Given the description of an element on the screen output the (x, y) to click on. 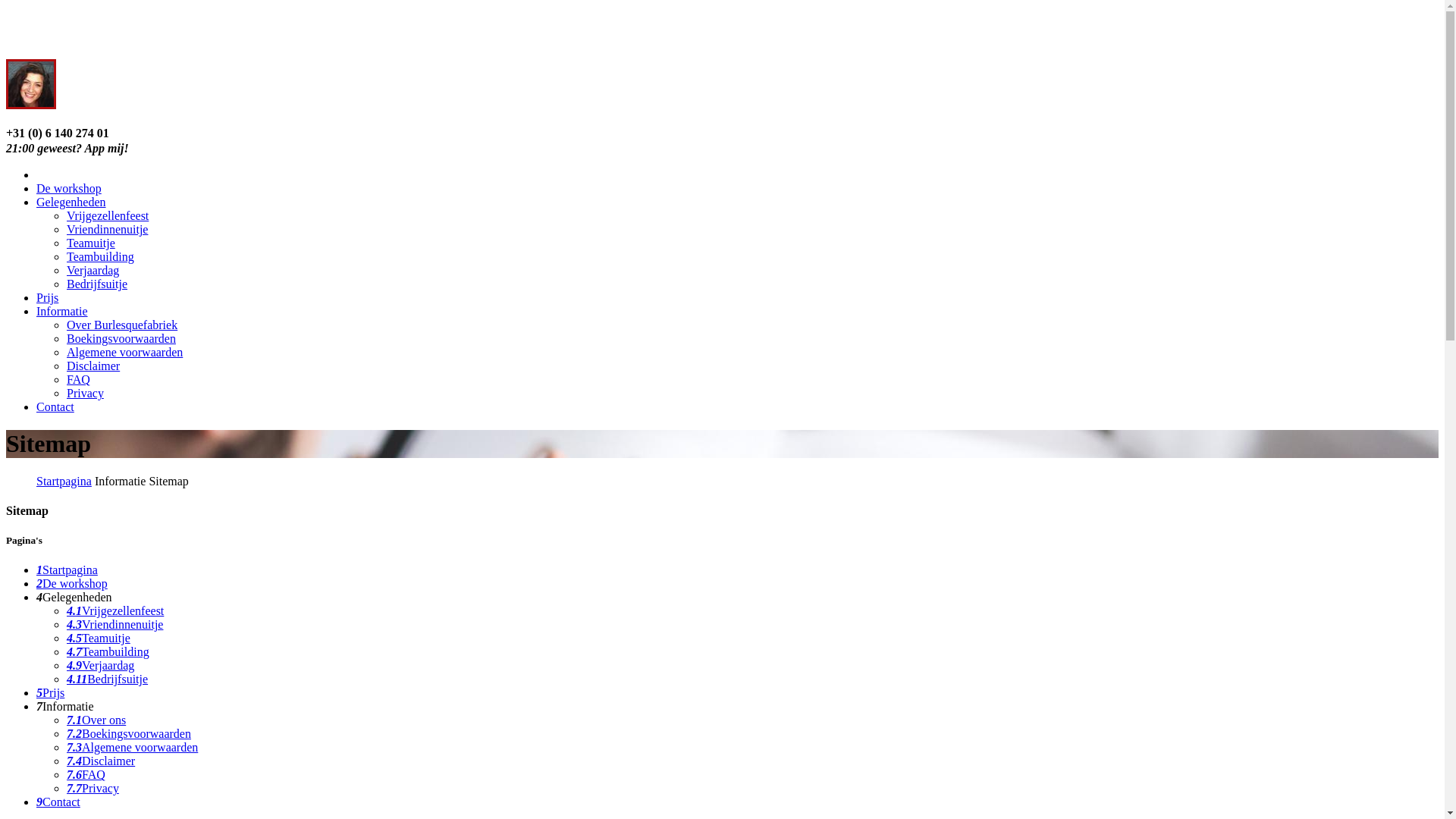
Verjaardag Element type: text (92, 269)
7Informatie Element type: text (65, 705)
Prijs Element type: text (47, 297)
7.1Over ons Element type: text (95, 719)
Vriendinnenuitje Element type: text (106, 228)
7.3Algemene voorwaarden Element type: text (131, 746)
1Startpagina Element type: text (66, 569)
4.11Bedrijfsuitje Element type: text (106, 678)
FAQ Element type: text (78, 379)
Over Burlesquefabriek Element type: text (121, 324)
7.6FAQ Element type: text (85, 774)
7.4Disclaimer Element type: text (100, 760)
Teambuilding Element type: text (100, 256)
Teamuitje Element type: text (90, 242)
4.1Vrijgezellenfeest Element type: text (114, 610)
4.7Teambuilding Element type: text (107, 651)
Disclaimer Element type: text (92, 365)
Informatie Element type: text (61, 310)
Contact Element type: text (55, 406)
4.5Teamuitje Element type: text (98, 637)
Privacy Element type: text (84, 392)
7.7Privacy Element type: text (92, 787)
7.2Boekingsvoorwaarden Element type: text (128, 733)
De workshop Element type: text (68, 188)
4.3Vriendinnenuitje Element type: text (114, 624)
Bedrijfsuitje Element type: text (96, 283)
Algemene voorwaarden Element type: text (124, 351)
5Prijs Element type: text (50, 692)
2De workshop Element type: text (71, 583)
4Gelegenheden Element type: text (74, 596)
4.9Verjaardag Element type: text (100, 664)
Vrijgezellenfeest Element type: text (107, 215)
Gelegenheden Element type: text (71, 201)
Boekingsvoorwaarden Element type: text (120, 338)
Startpagina Element type: text (63, 480)
9Contact Element type: text (58, 801)
